Given the description of an element on the screen output the (x, y) to click on. 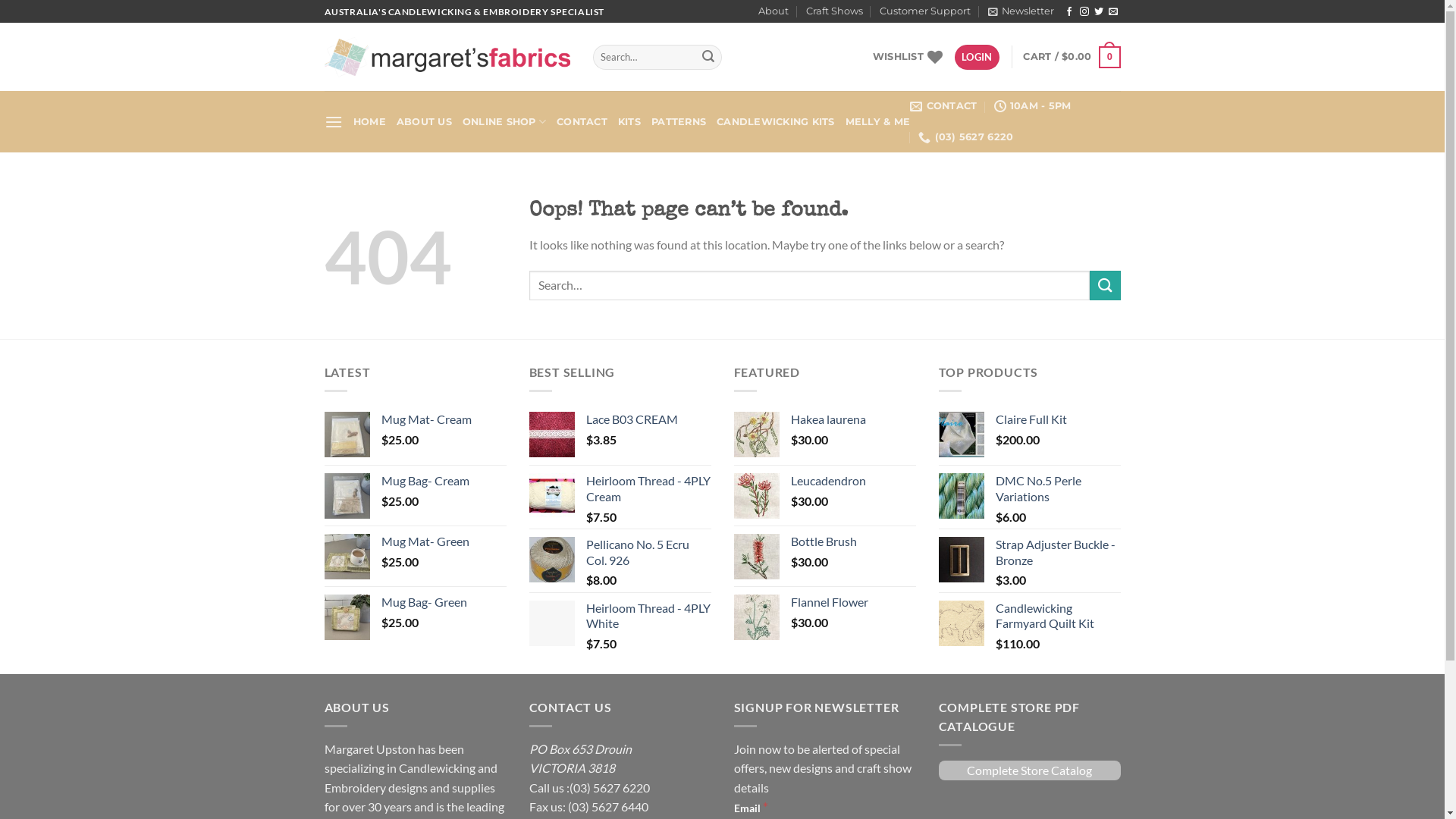
Leucadendron Element type: text (852, 481)
Candlewicking Farmyard Quilt Kit Element type: text (1057, 616)
DMC No.5 Perle Variations Element type: text (1057, 489)
Mug Bag- Cream Element type: text (442, 481)
WISHLIST Element type: text (907, 56)
Heirloom Thread - 4PLY Cream Element type: text (647, 489)
HOME Element type: text (369, 121)
MELLY & ME Element type: text (877, 121)
10AM - 5PM Element type: text (1032, 106)
Lace B03 CREAM Element type: text (647, 419)
Search Element type: text (708, 57)
Flannel Flower Element type: text (852, 602)
Mug Bag- Green Element type: text (442, 602)
Strap Adjuster Buckle - Bronze Element type: text (1057, 552)
Complete Store Catalog Element type: text (1029, 770)
ONLINE SHOP Element type: text (504, 121)
KITS Element type: text (629, 121)
CANDLEWICKING KITS Element type: text (775, 121)
Mug Mat- Green Element type: text (442, 541)
CONTACT Element type: text (943, 106)
Bottle Brush Element type: text (852, 541)
Heirloom Thread - 4PLY White Element type: text (647, 616)
(03) 5627 6220 Element type: text (965, 137)
Mug Mat- Cream Element type: text (442, 419)
ABOUT US Element type: text (423, 121)
CONTACT Element type: text (581, 121)
Pellicano No. 5 Ecru Col. 926 Element type: text (647, 552)
Newsletter Element type: text (1021, 11)
Hakea laurena Element type: text (852, 419)
About Element type: text (773, 11)
CART / $0.00
0 Element type: text (1071, 57)
Claire Full Kit Element type: text (1057, 419)
Craft Shows Element type: text (834, 11)
Customer Support Element type: text (924, 11)
LOGIN Element type: text (976, 56)
PATTERNS Element type: text (678, 121)
